Given the description of an element on the screen output the (x, y) to click on. 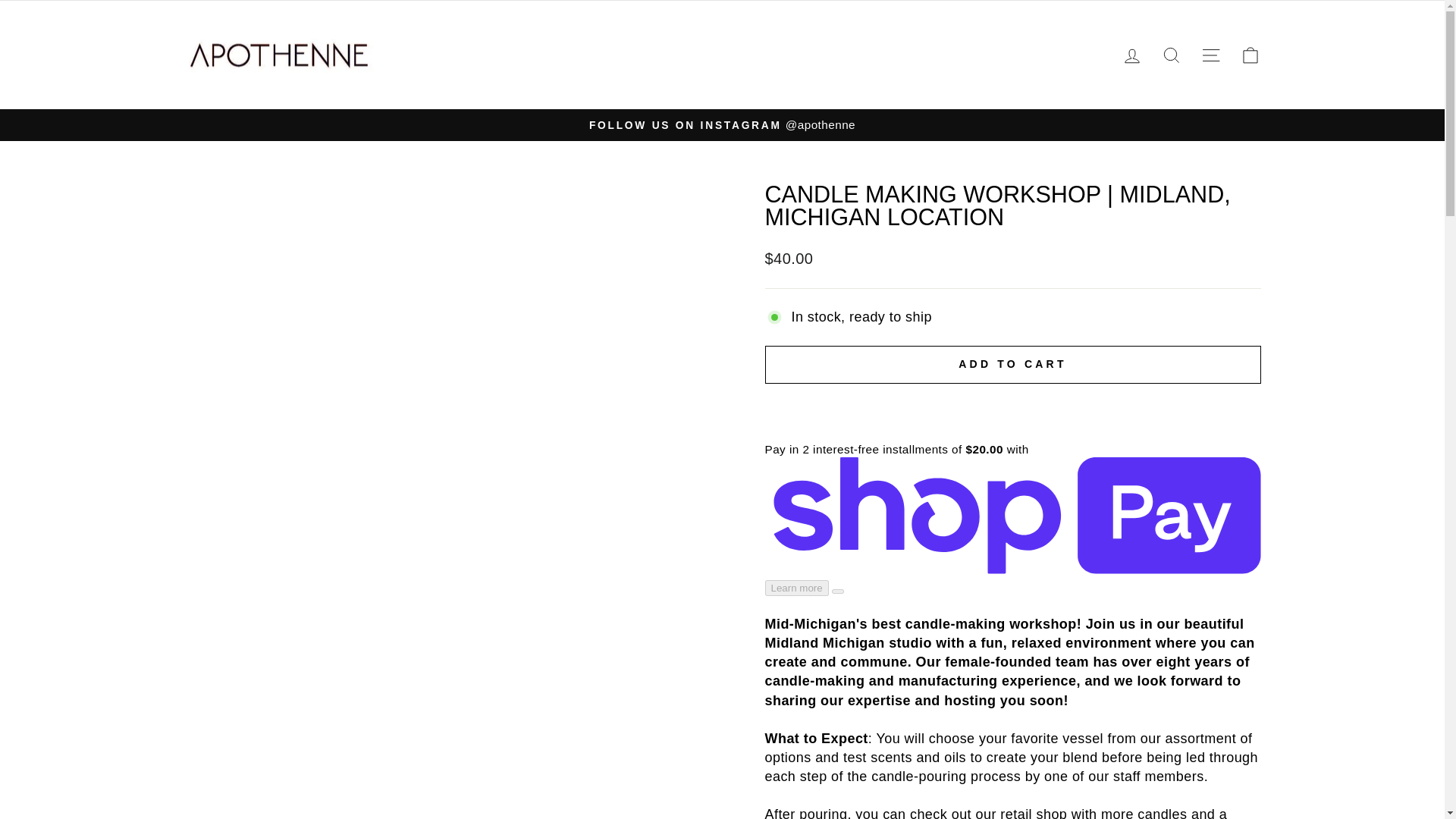
CART (1249, 54)
SITE NAVIGATION (1210, 54)
ADD TO CART (1012, 364)
SEARCH (1171, 54)
LOG IN (1131, 54)
